Given the description of an element on the screen output the (x, y) to click on. 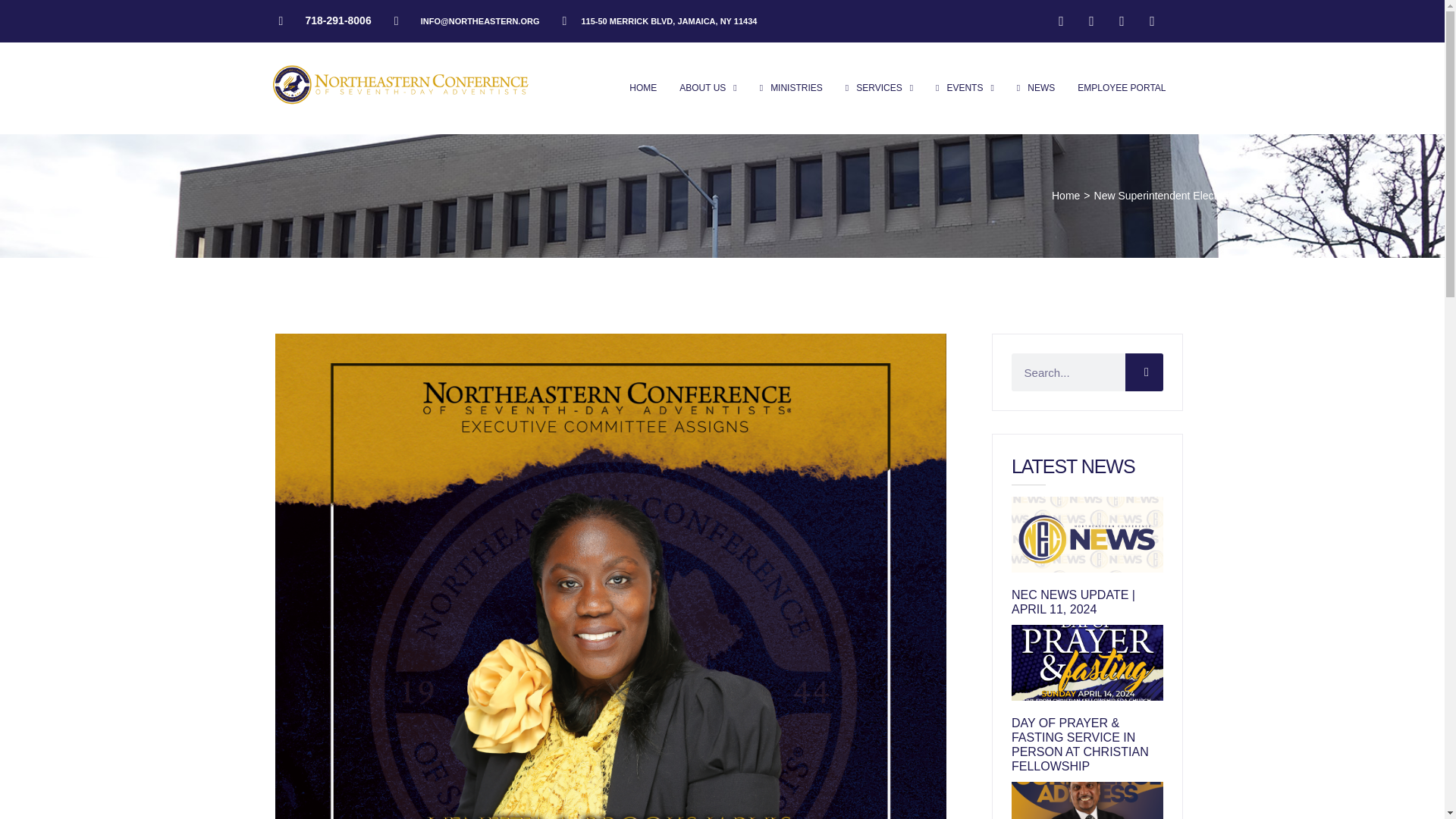
SERVICES (878, 88)
EVENTS (965, 88)
MINISTRIES (791, 88)
Home (1065, 195)
HOME (642, 88)
ABOUT US (707, 88)
718-291-8006 (325, 20)
